Given the description of an element on the screen output the (x, y) to click on. 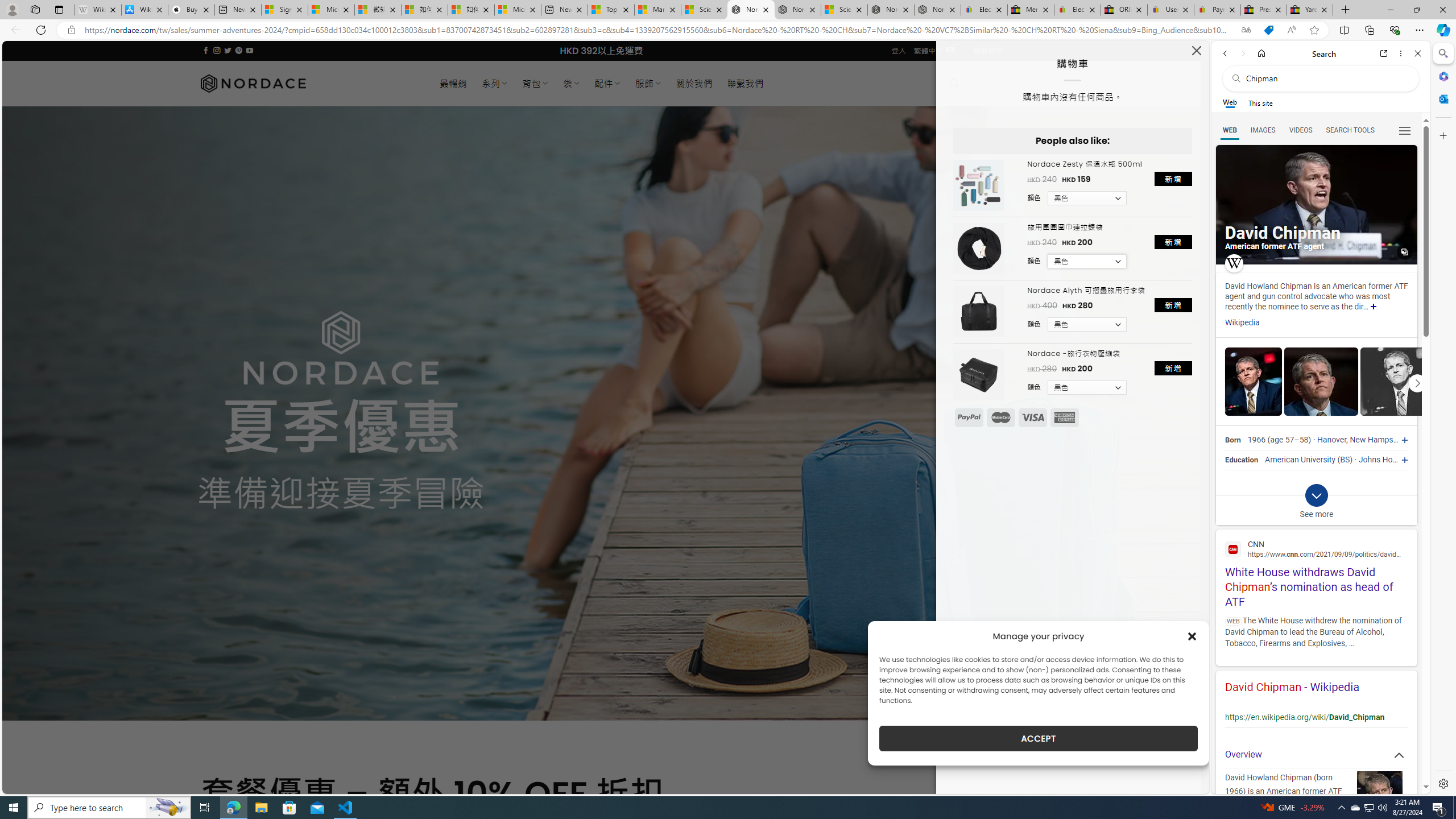
ACCEPT (1038, 738)
Microsoft account | Account Checkup (517, 9)
Hanover (1331, 439)
User Privacy Notice | eBay (1170, 9)
All images (1404, 252)
Johns Hopkins University (1403, 460)
Wikipedia (1241, 322)
